Given the description of an element on the screen output the (x, y) to click on. 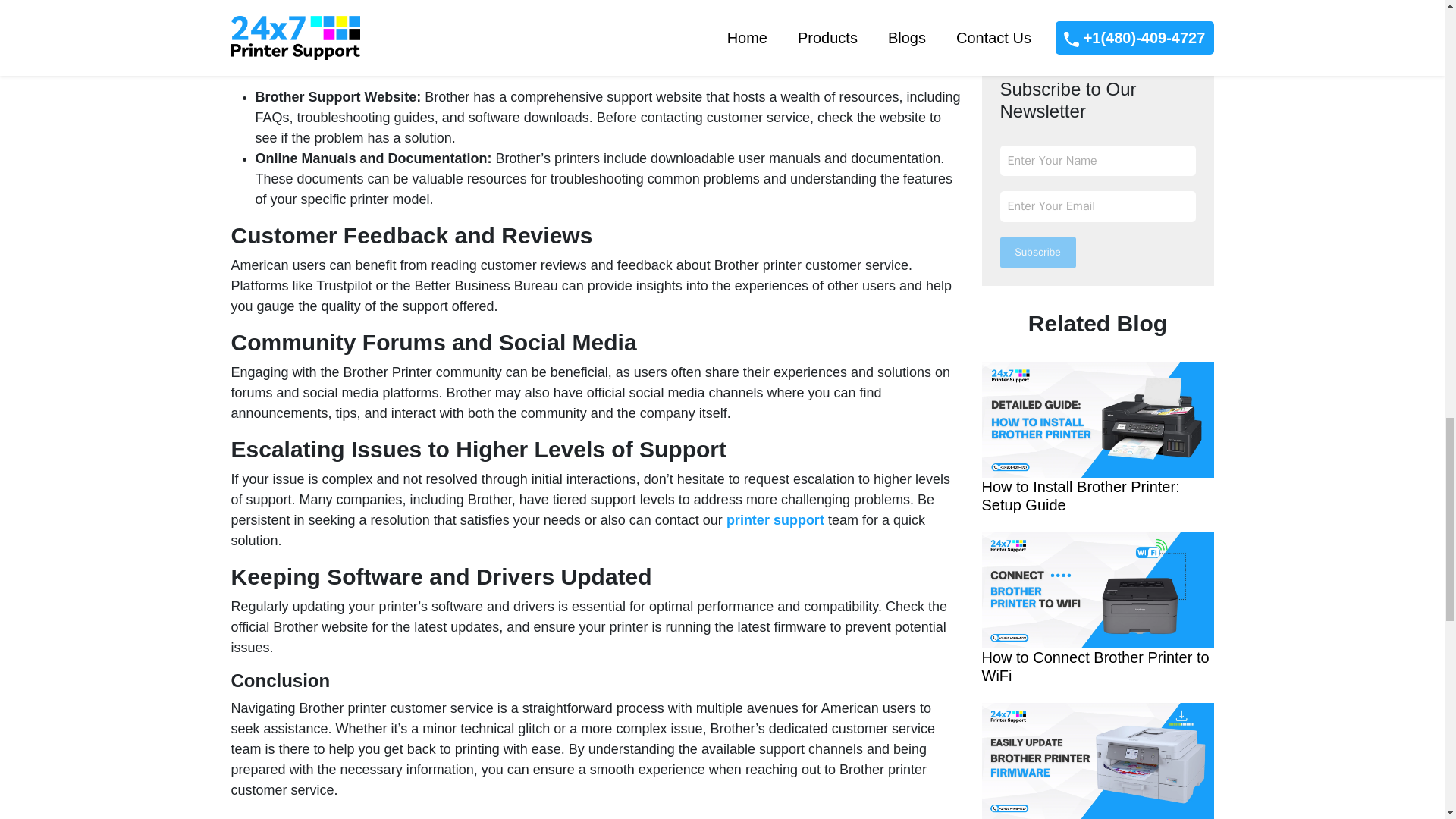
printer support (775, 519)
